Given the description of an element on the screen output the (x, y) to click on. 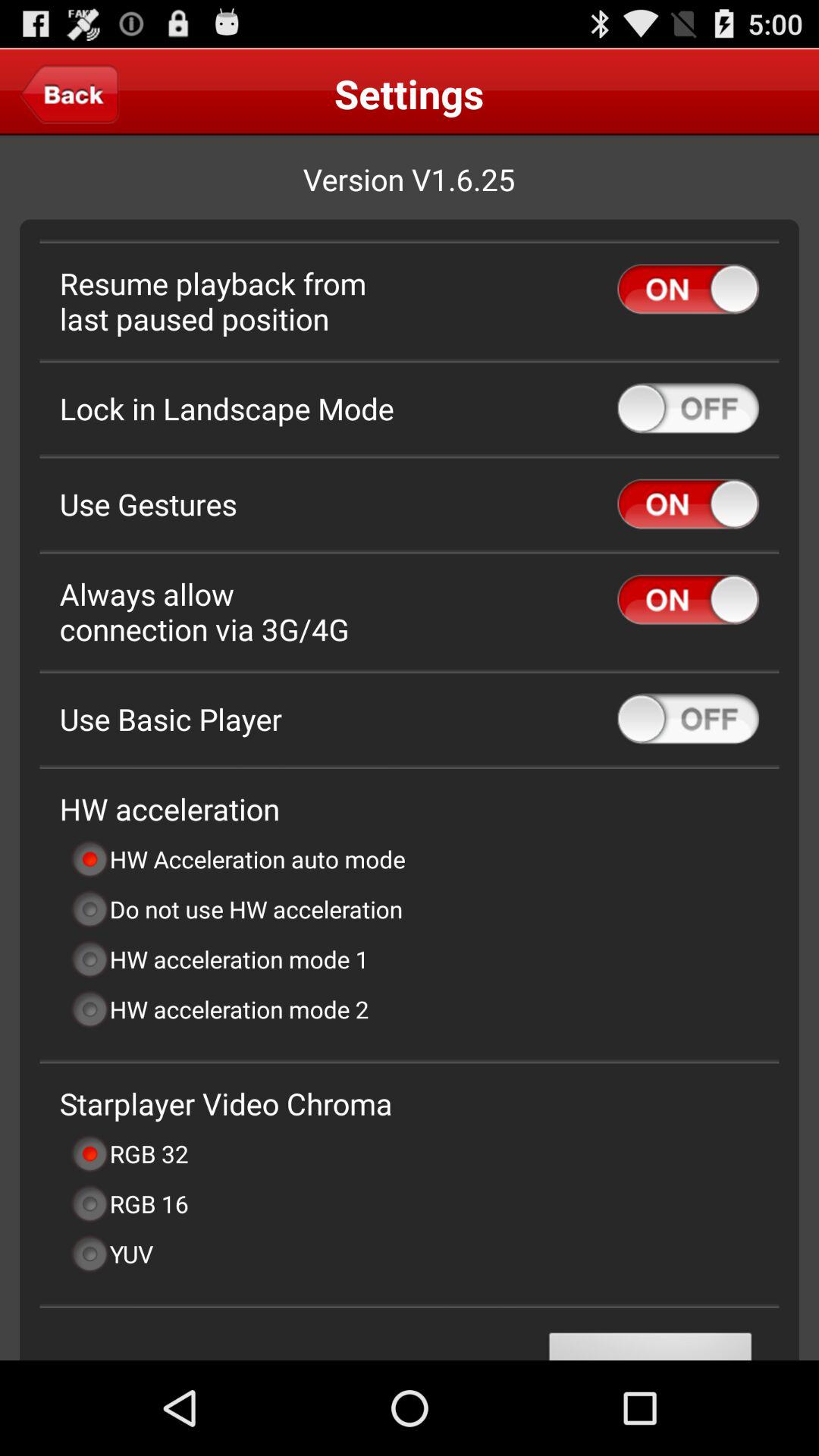
toggle resume playback from last paused position (688, 289)
